Given the description of an element on the screen output the (x, y) to click on. 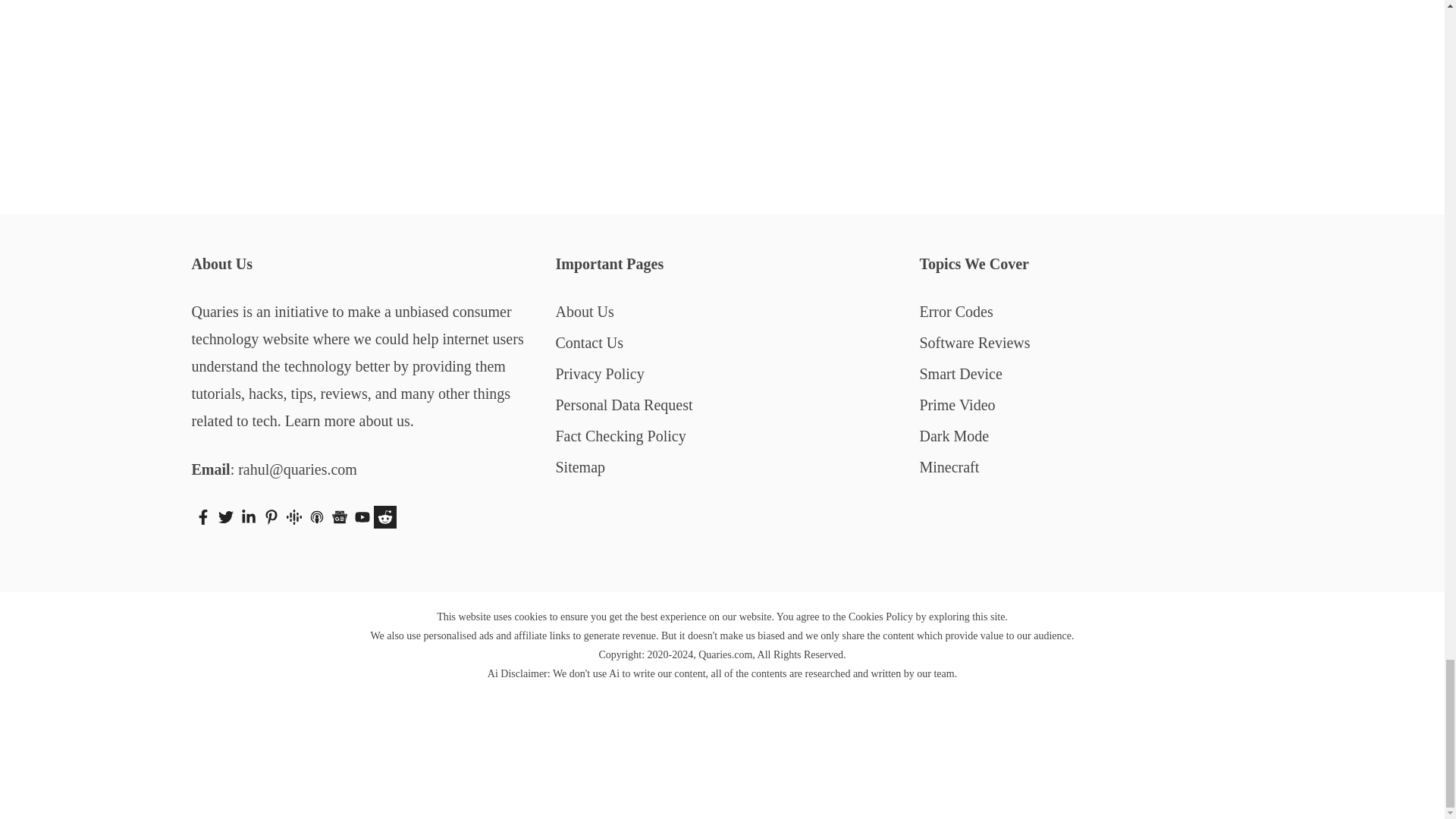
DMCA.com Protection Status (721, 793)
